Given the description of an element on the screen output the (x, y) to click on. 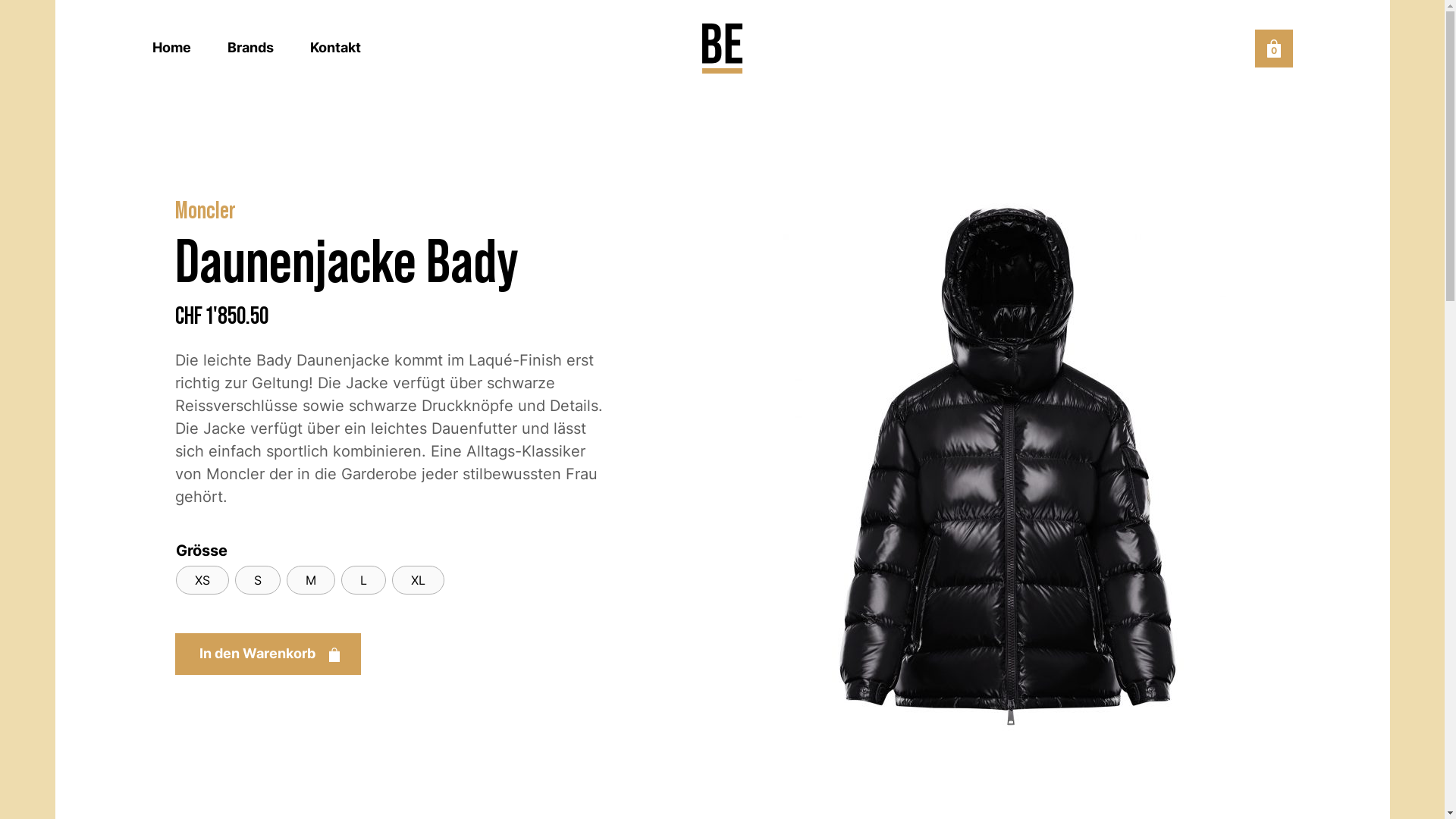
Brands Element type: text (250, 47)
F20931A57600C0064999_Z_P Element type: hover (1006, 457)
0
zum Warenkorb Element type: text (1273, 48)
In den Warenkorb Element type: text (267, 653)
Kontakt Element type: text (334, 47)
Boutique Exclusiv Element type: text (722, 48)
Home Element type: text (170, 47)
